Given the description of an element on the screen output the (x, y) to click on. 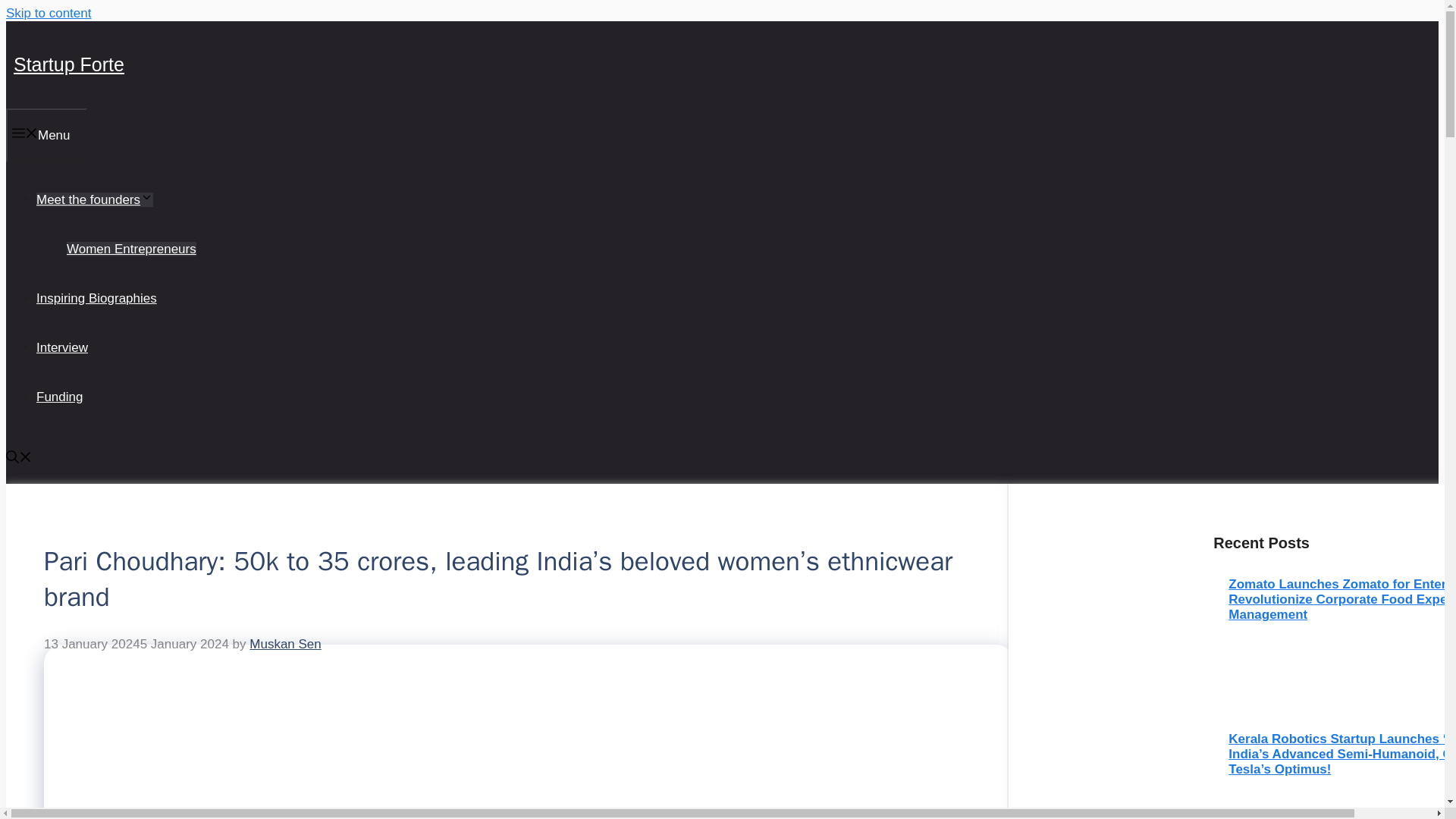
Skip to content (47, 12)
View all posts by Muskan Sen (284, 644)
Skip to content (47, 12)
Muskan Sen (284, 644)
Women Entrepreneurs (131, 248)
Meet the founders (94, 199)
Inspiring Biographies (96, 298)
Interview (61, 347)
Menu (46, 135)
Funding (59, 396)
